Given the description of an element on the screen output the (x, y) to click on. 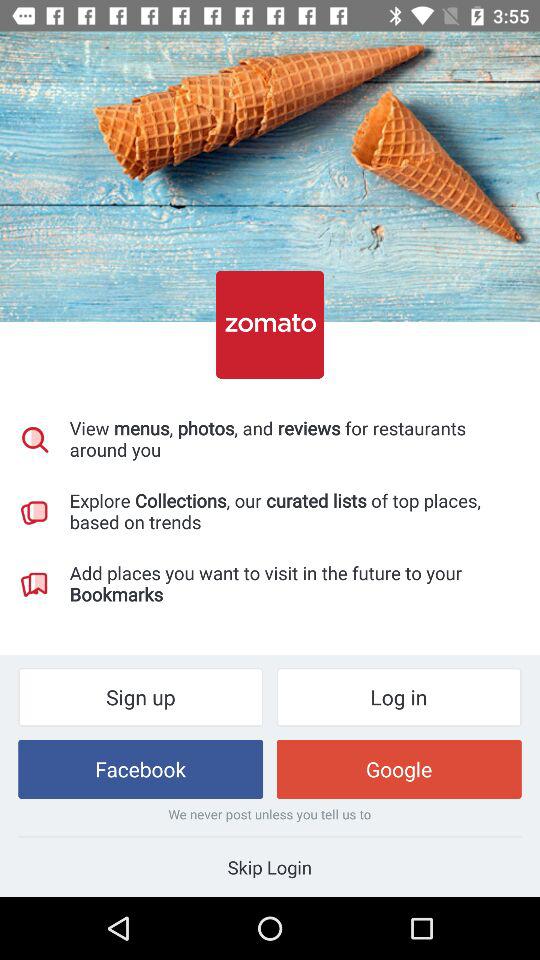
swipe to sign up icon (140, 696)
